Given the description of an element on the screen output the (x, y) to click on. 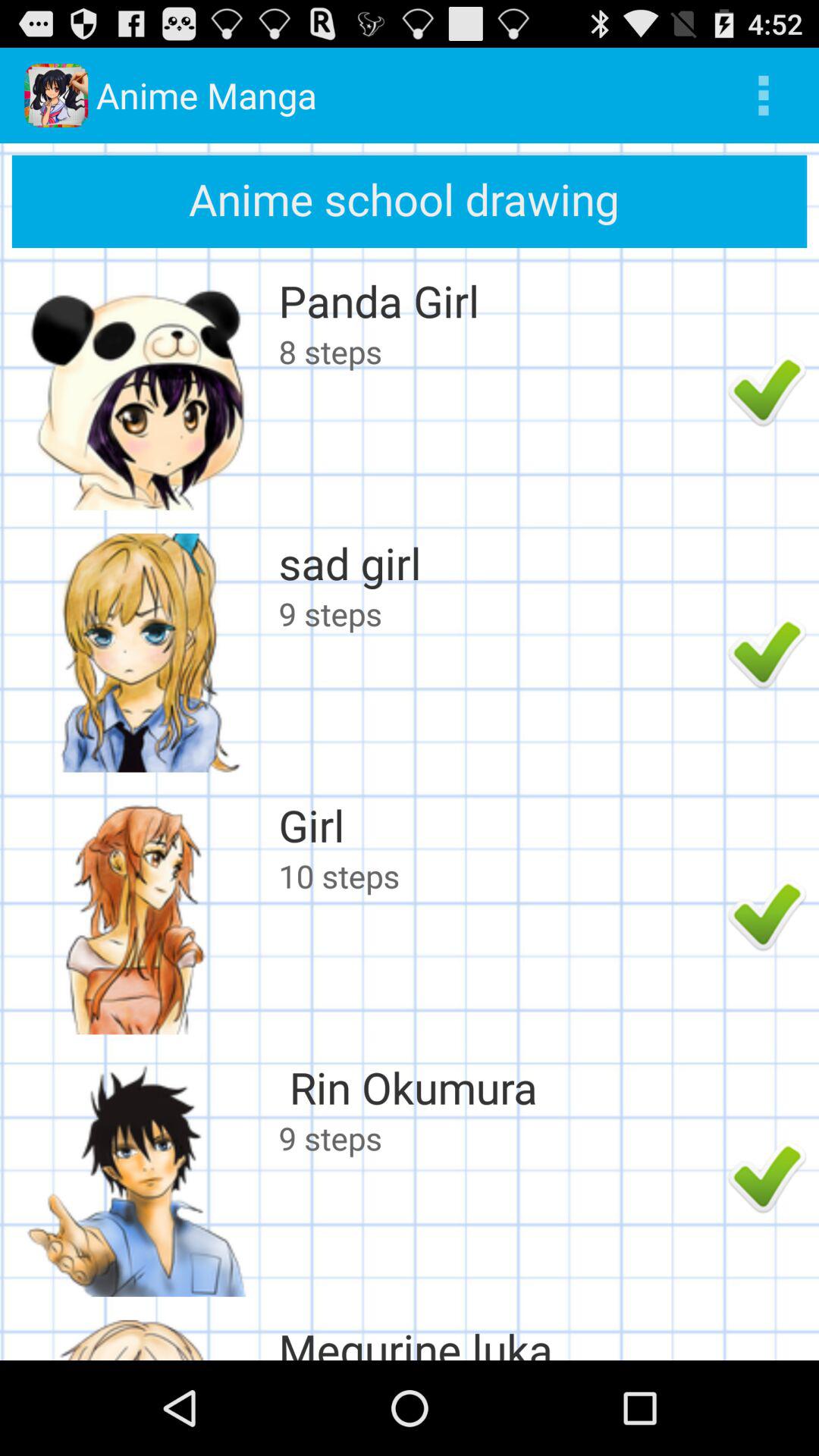
click 10 steps icon (498, 875)
